Given the description of an element on the screen output the (x, y) to click on. 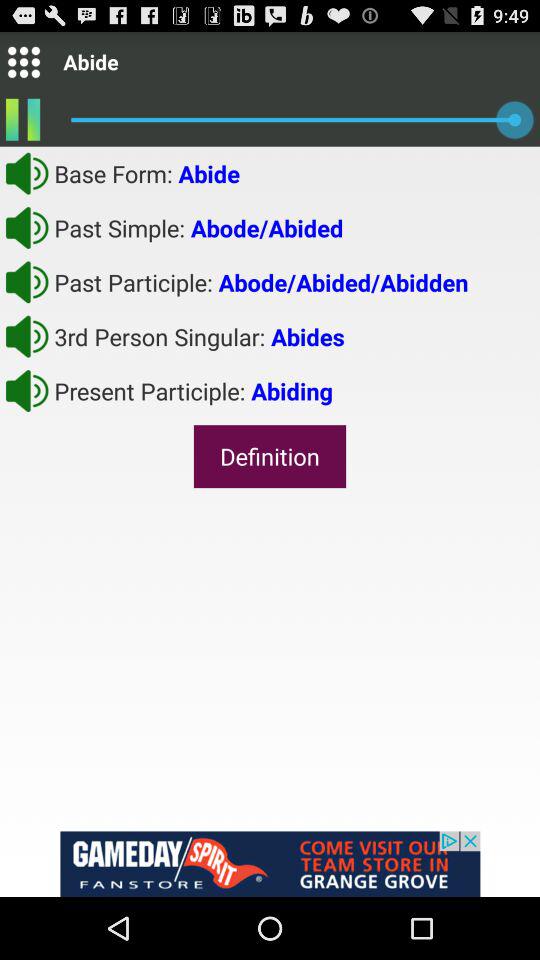
play button (27, 390)
